Given the description of an element on the screen output the (x, y) to click on. 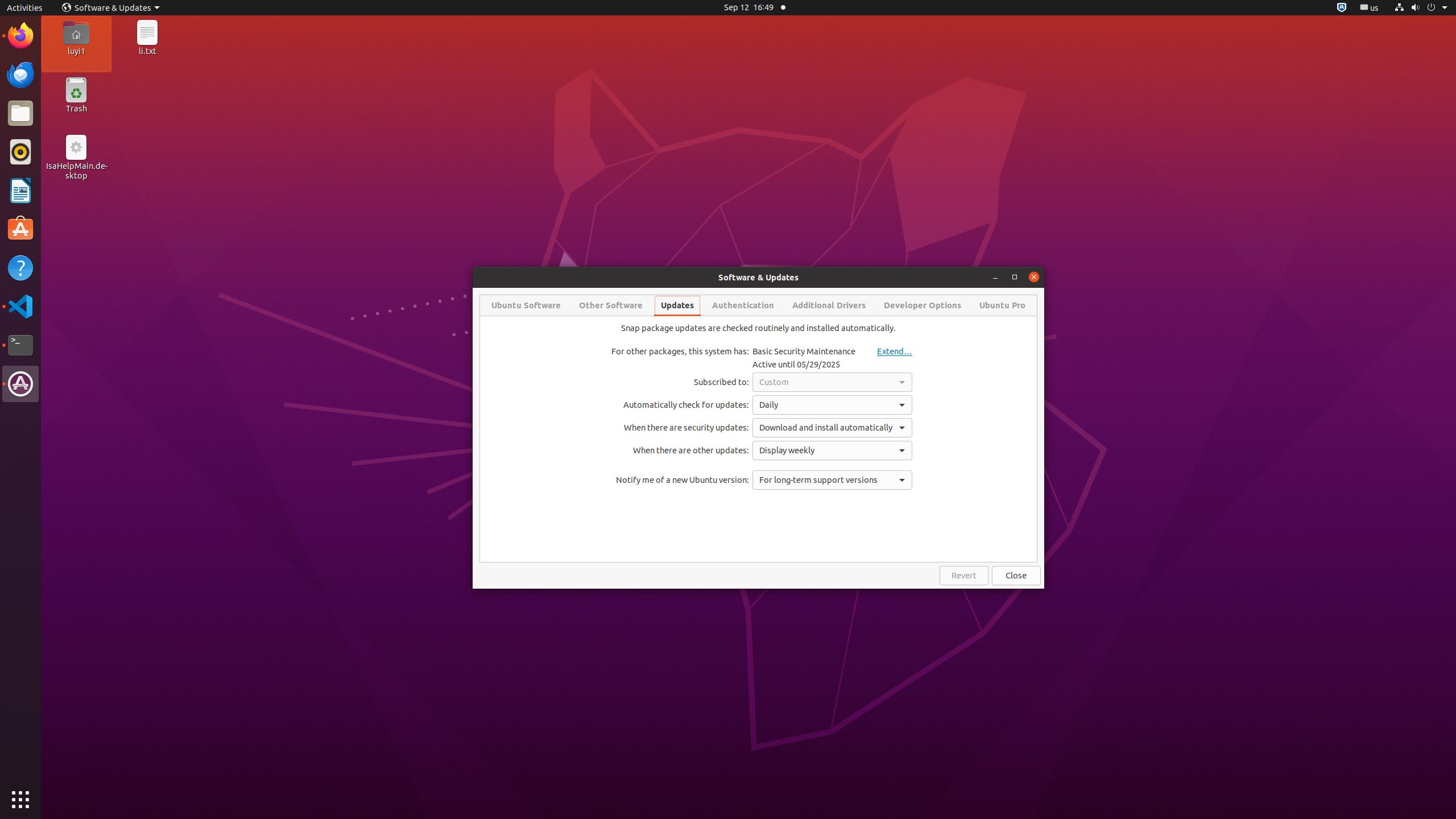
Close Element type: push-button (1015, 575)
Firefox Web Browser Element type: push-button (20, 35)
For other packages, this system has: Element type: label (680, 351)
Download and install automatically Element type: combo-box (832, 427)
